Given the description of an element on the screen output the (x, y) to click on. 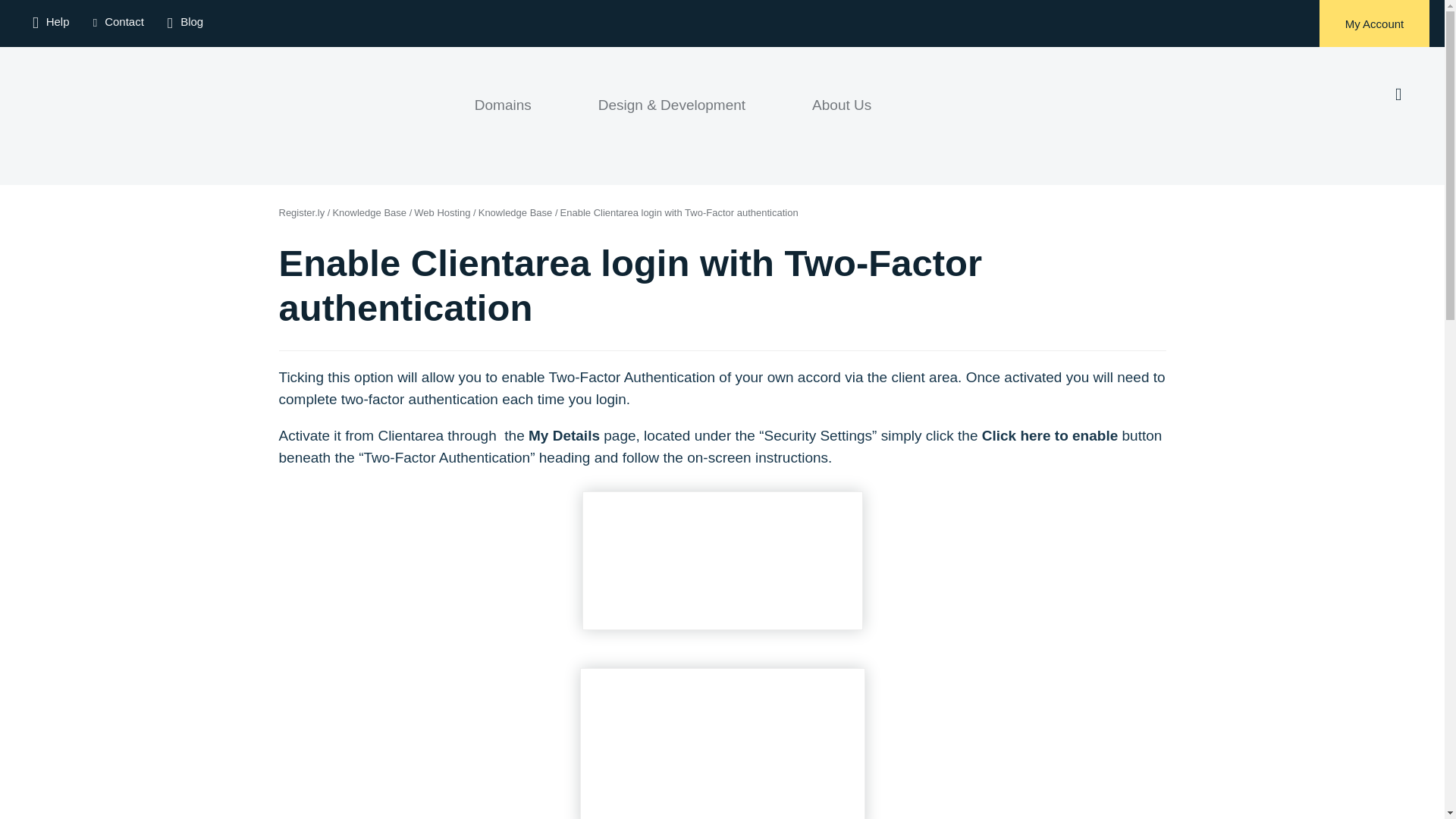
Contact (118, 21)
About Us (841, 120)
Domains (502, 120)
Help (50, 21)
Go to Knowledge Base. (516, 212)
Go to Register.ly. (301, 212)
Blog (185, 21)
My Account (1374, 23)
